Given the description of an element on the screen output the (x, y) to click on. 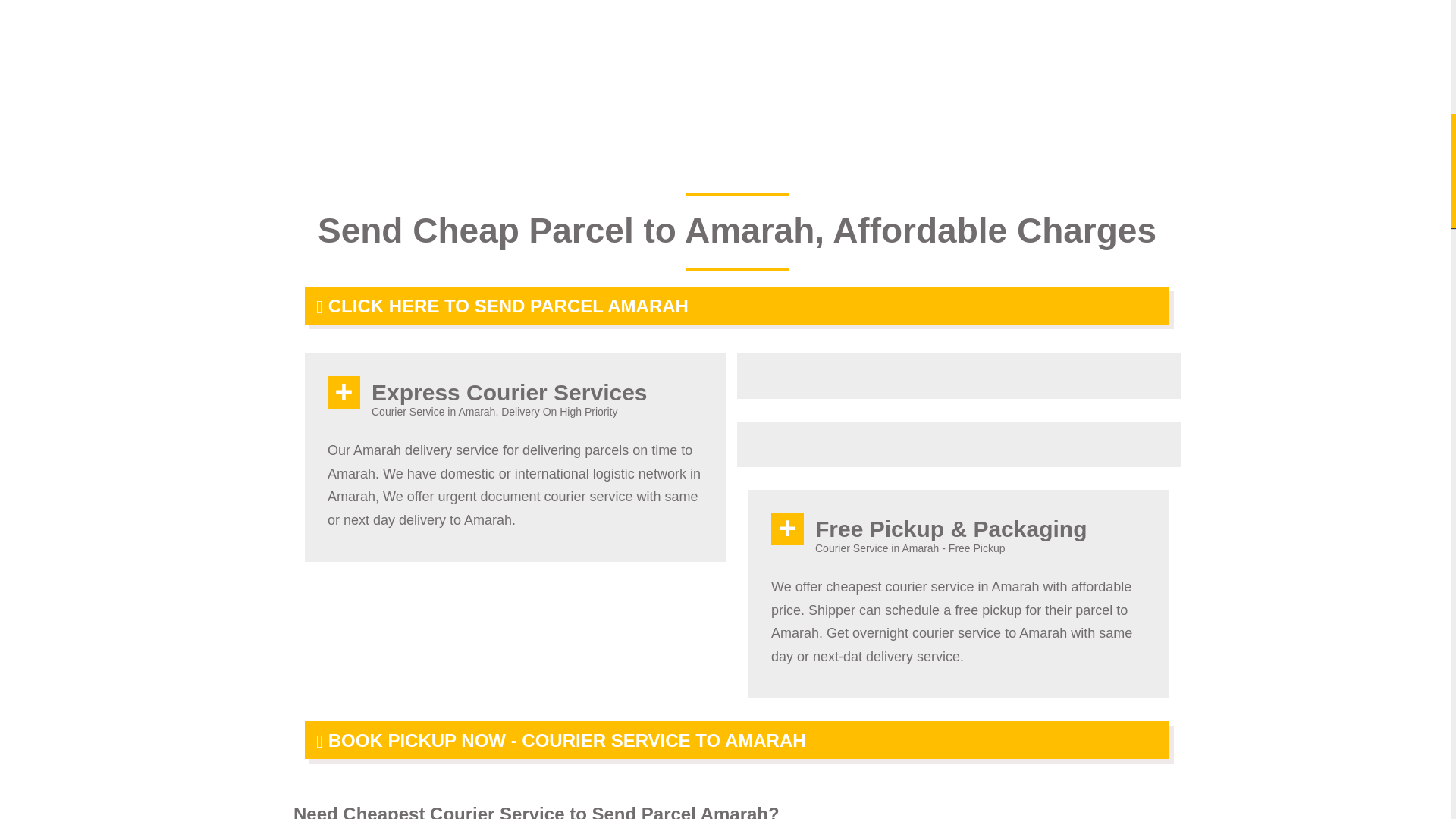
CLICK HERE TO SEND PARCEL AMARAH (736, 305)
BOOK PICKUP NOW - COURIER SERVICE TO AMARAH (736, 740)
CLICK HERE TO SEND PARCEL AMARAH (736, 305)
BOOK PICKUP NOW - COURIER SERVICE TO AMARAH (736, 740)
